Given the description of an element on the screen output the (x, y) to click on. 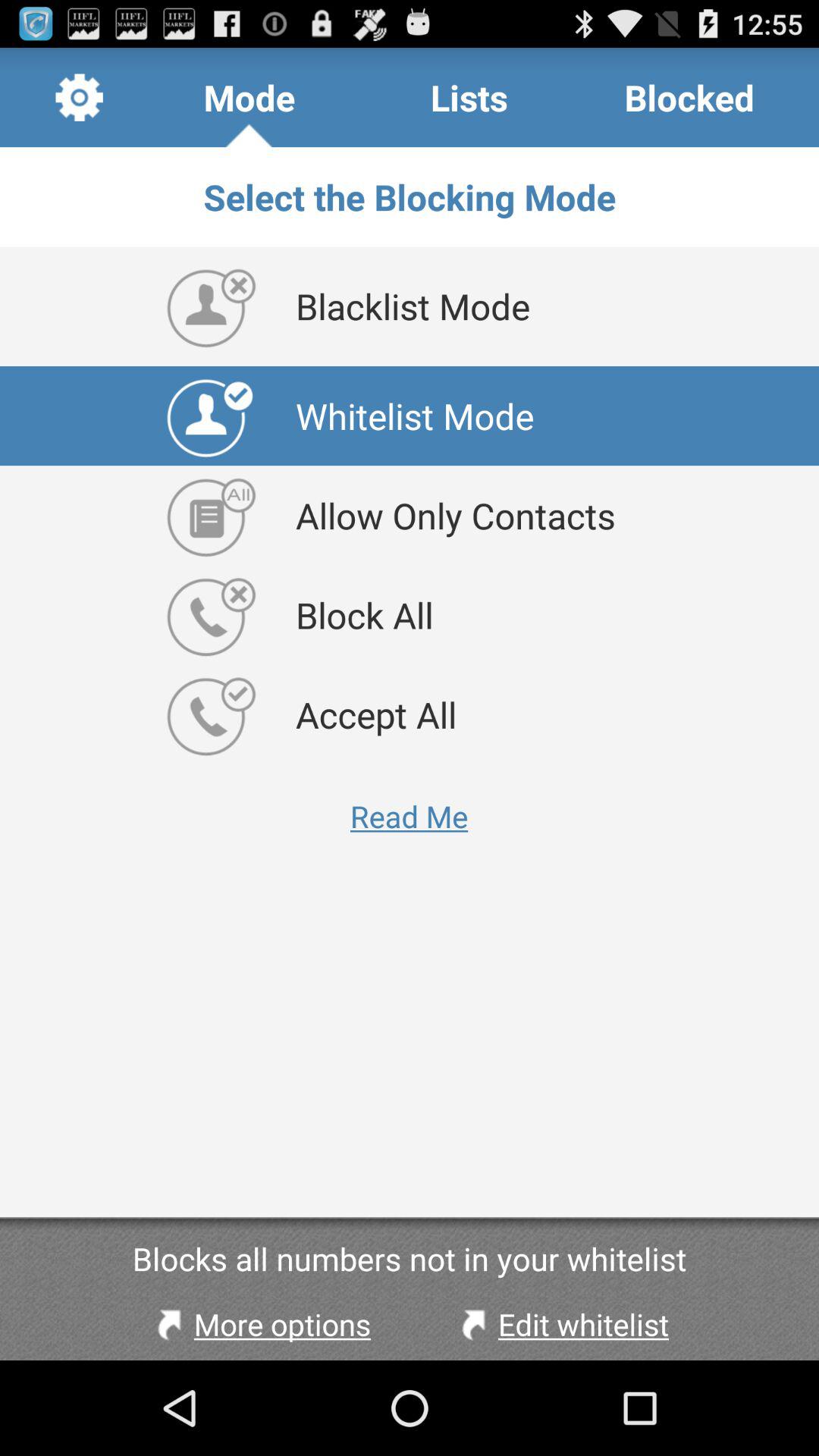
select more options item (260, 1324)
